Given the description of an element on the screen output the (x, y) to click on. 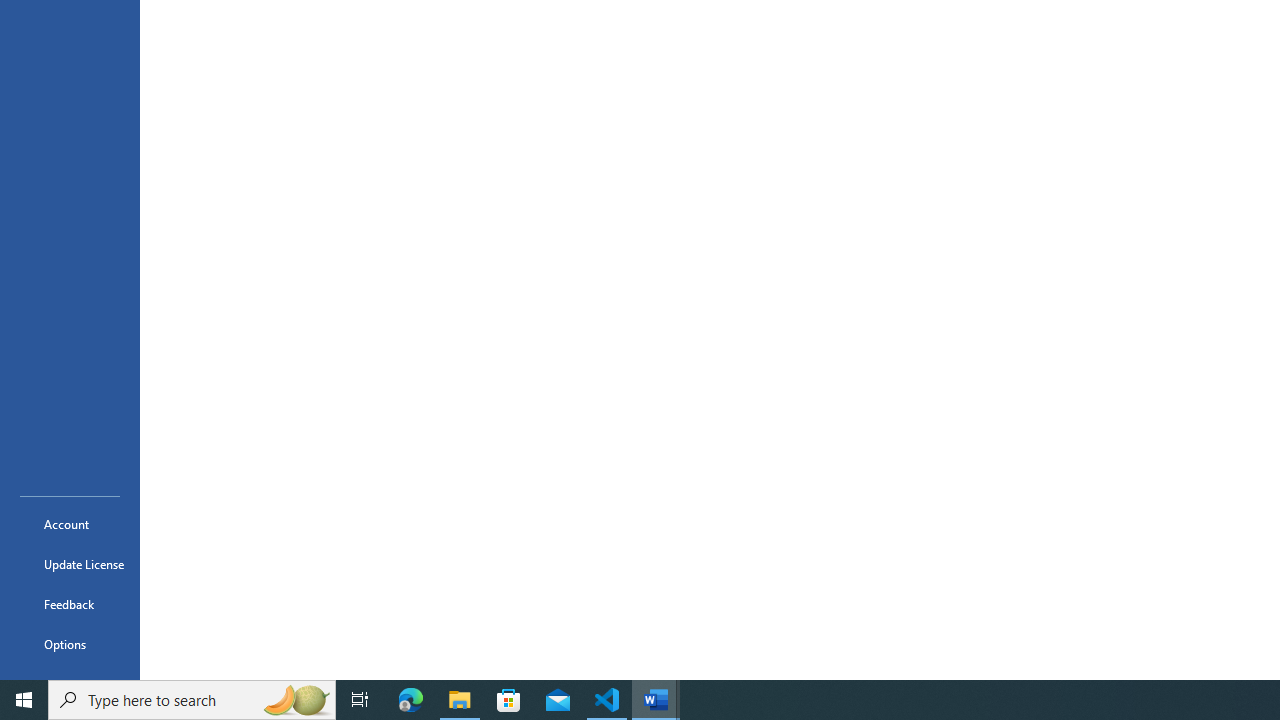
Account (69, 523)
Options (69, 643)
Update License (69, 563)
Feedback (69, 603)
